Given the description of an element on the screen output the (x, y) to click on. 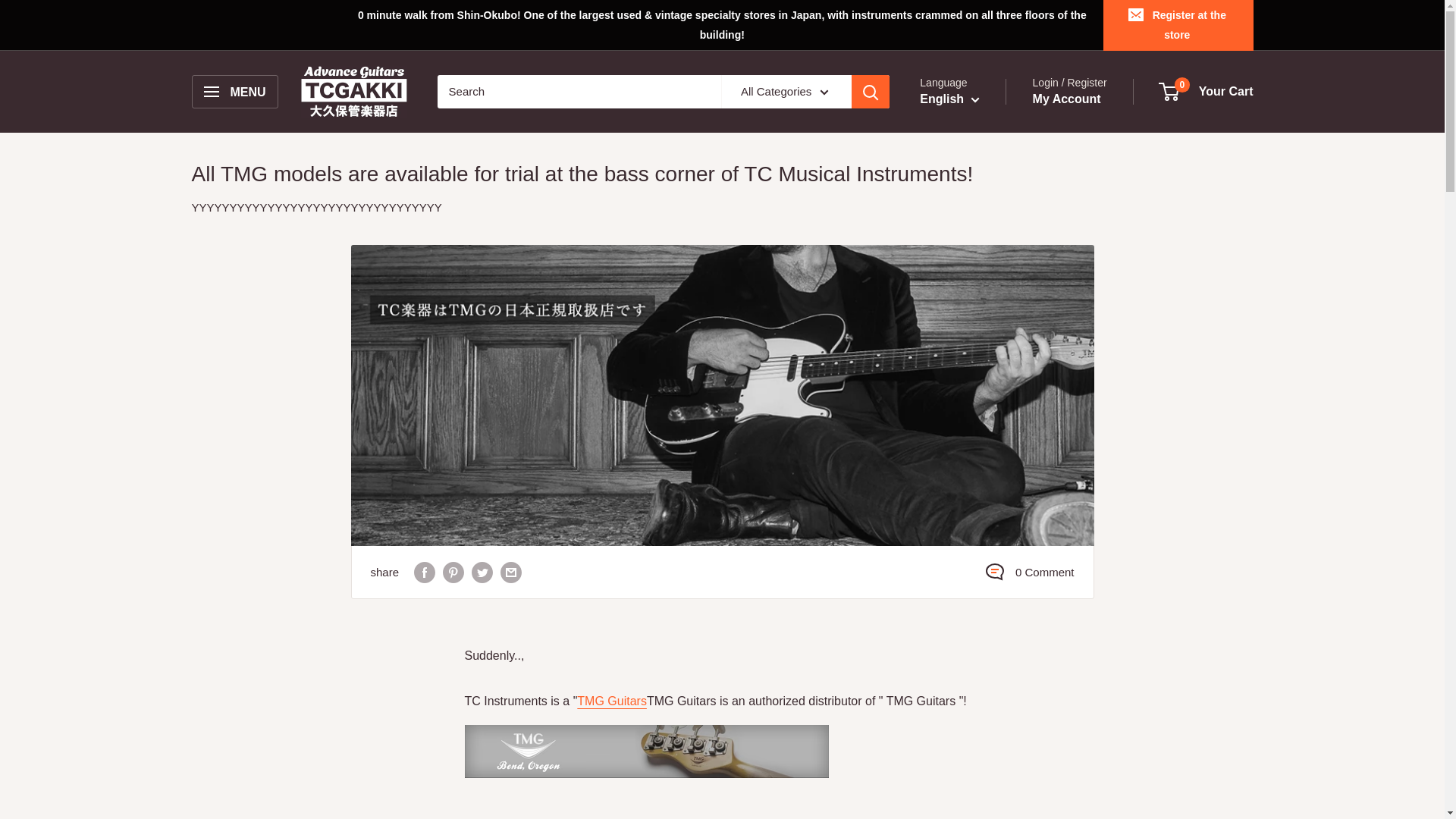
Register at the store (1177, 24)
